Given the description of an element on the screen output the (x, y) to click on. 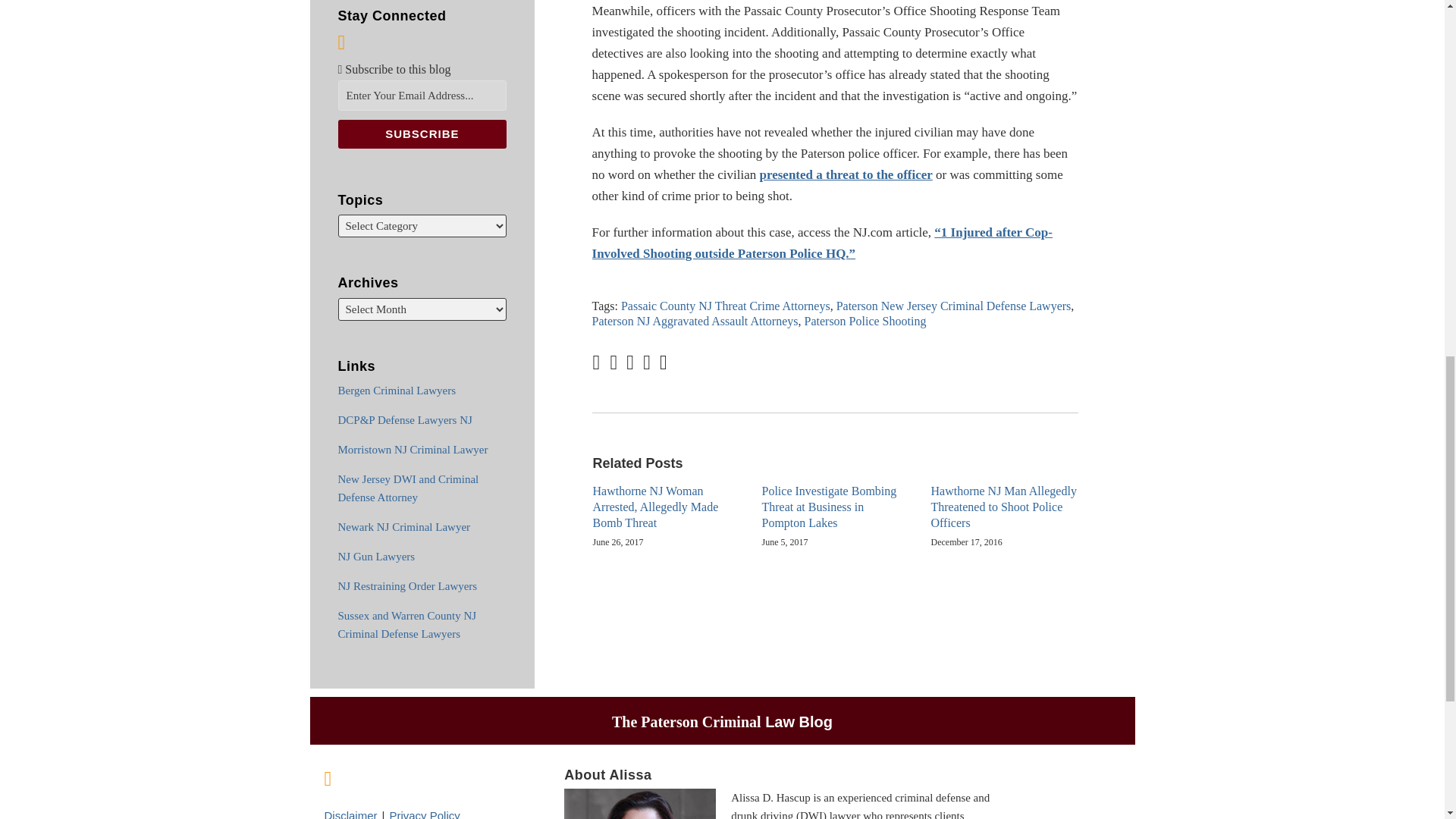
Sussex and Warren County NJ Criminal Defense Lawyers (407, 624)
Hawthorne NJ Woman Arrested, Allegedly Made Bomb Threat (665, 507)
Morristown NJ Criminal Lawyer (412, 449)
Paterson NJ Aggravated Assault Attorneys (694, 320)
Paterson New Jersey Criminal Defense Lawyers (953, 305)
NJ Restraining Order Lawyers (407, 585)
Bergen Criminal Lawyers (397, 390)
Passaic County NJ Threat Crime Attorneys (725, 305)
NJ Gun Lawyers (375, 556)
